Given the description of an element on the screen output the (x, y) to click on. 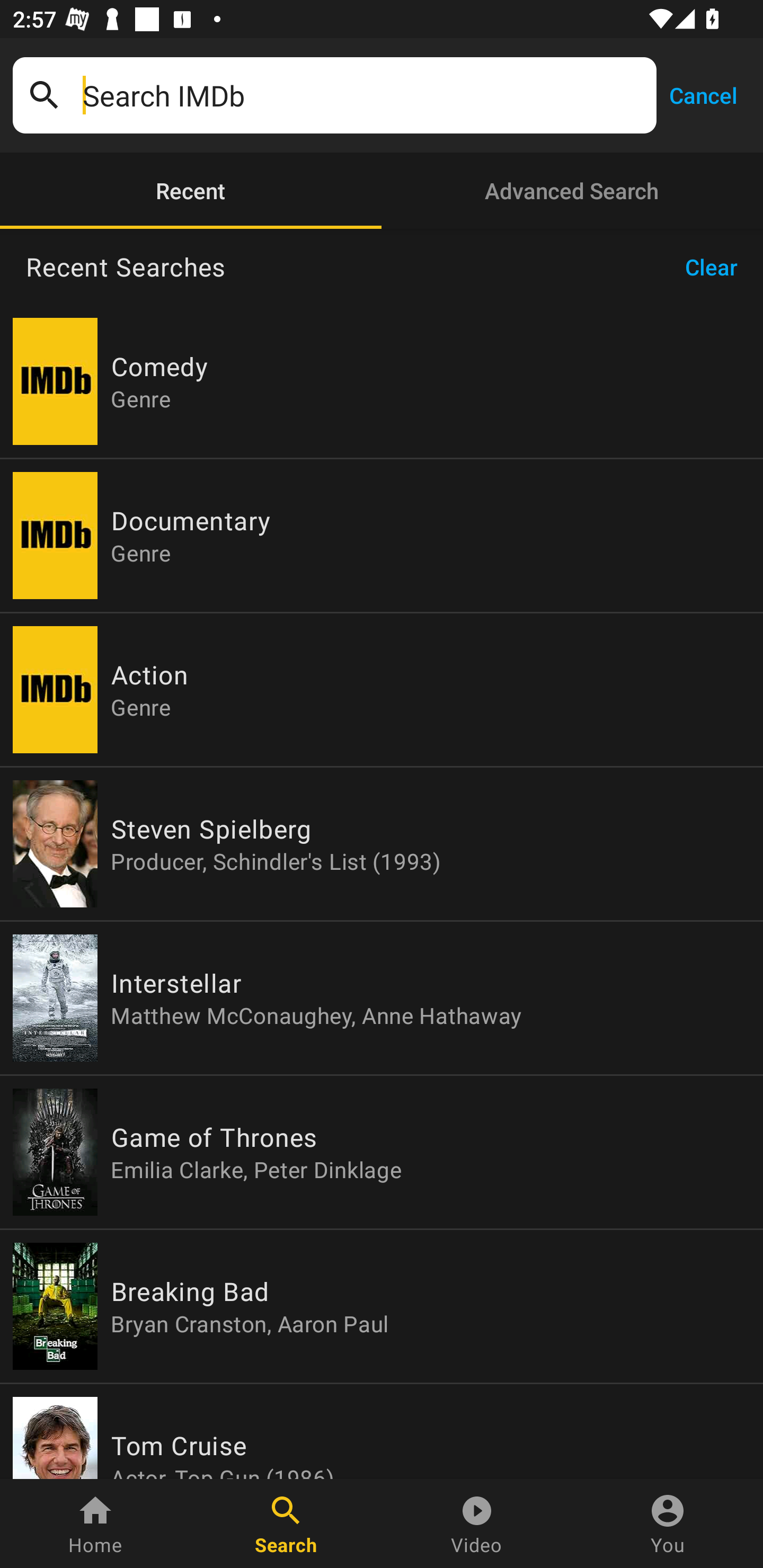
Cancel (703, 94)
Search IMDb (363, 95)
Advanced Search (572, 190)
Clear (717, 266)
Comedy Genre (381, 381)
Documentary Genre (381, 535)
Action Genre (381, 689)
Steven Spielberg Producer, Schindler's List (1993) (381, 844)
Interstellar Matthew McConaughey, Anne Hathaway (381, 997)
Game of Thrones Emilia Clarke, Peter Dinklage (381, 1151)
Breaking Bad Bryan Cranston, Aaron Paul (381, 1305)
Tom Cruise Actor, Top Gun (1986) (381, 1431)
Home (95, 1523)
Video (476, 1523)
You (667, 1523)
